Given the description of an element on the screen output the (x, y) to click on. 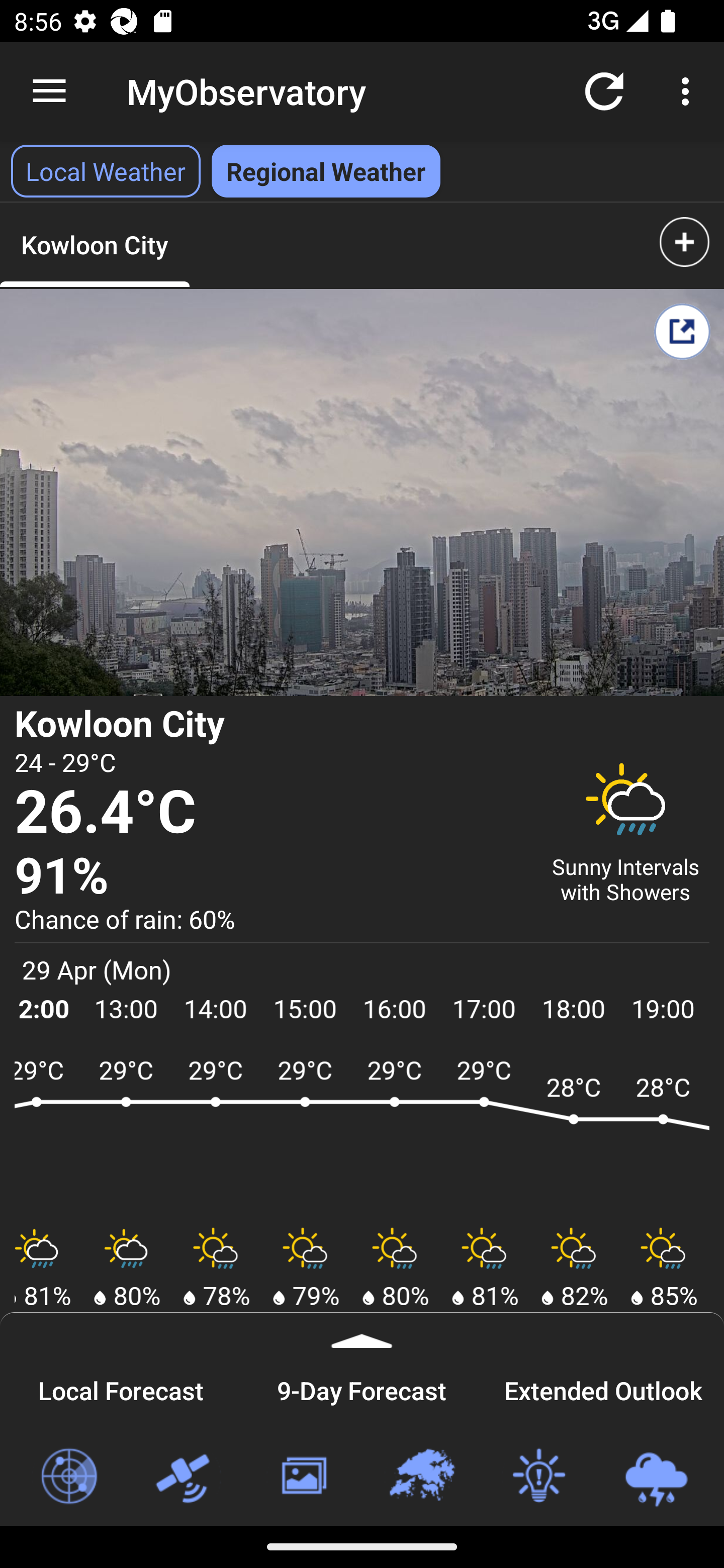
Navigate up (49, 91)
Refresh (604, 90)
More options (688, 90)
Local Weather Select Local Weather (105, 170)
Regional Weather Regional Weather selected (325, 170)
Add (684, 241)
Share My Weather Report (681, 330)
26.4°C Temperature
26.4 degree Celsius (270, 811)
91% Relative Humidity
91 percent (270, 876)
ARWF (361, 1134)
Expand (362, 1330)
Local Forecast (120, 1387)
Extended Outlook (603, 1387)
Radar Images (68, 1476)
Satellite Images (185, 1476)
Weather Photos (302, 1476)
Regional Weather (420, 1476)
Weather Tips (537, 1476)
Loc-based Rain & Lightning Forecast (655, 1476)
